Given the description of an element on the screen output the (x, y) to click on. 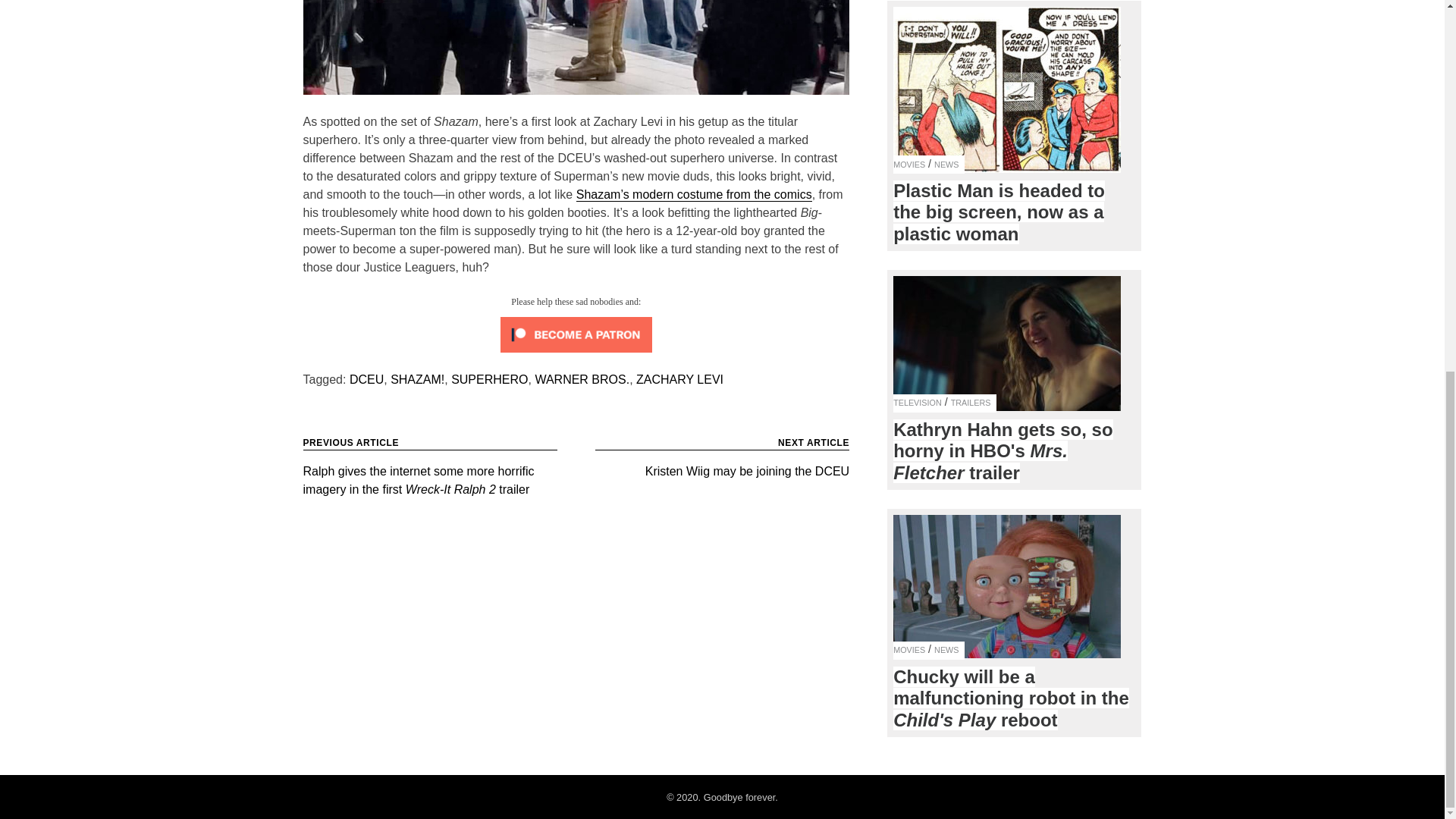
SUPERHERO (489, 379)
ZACHARY LEVI (679, 379)
WARNER BROS. (581, 379)
SHAZAM! (417, 379)
DCEU (721, 464)
